Given the description of an element on the screen output the (x, y) to click on. 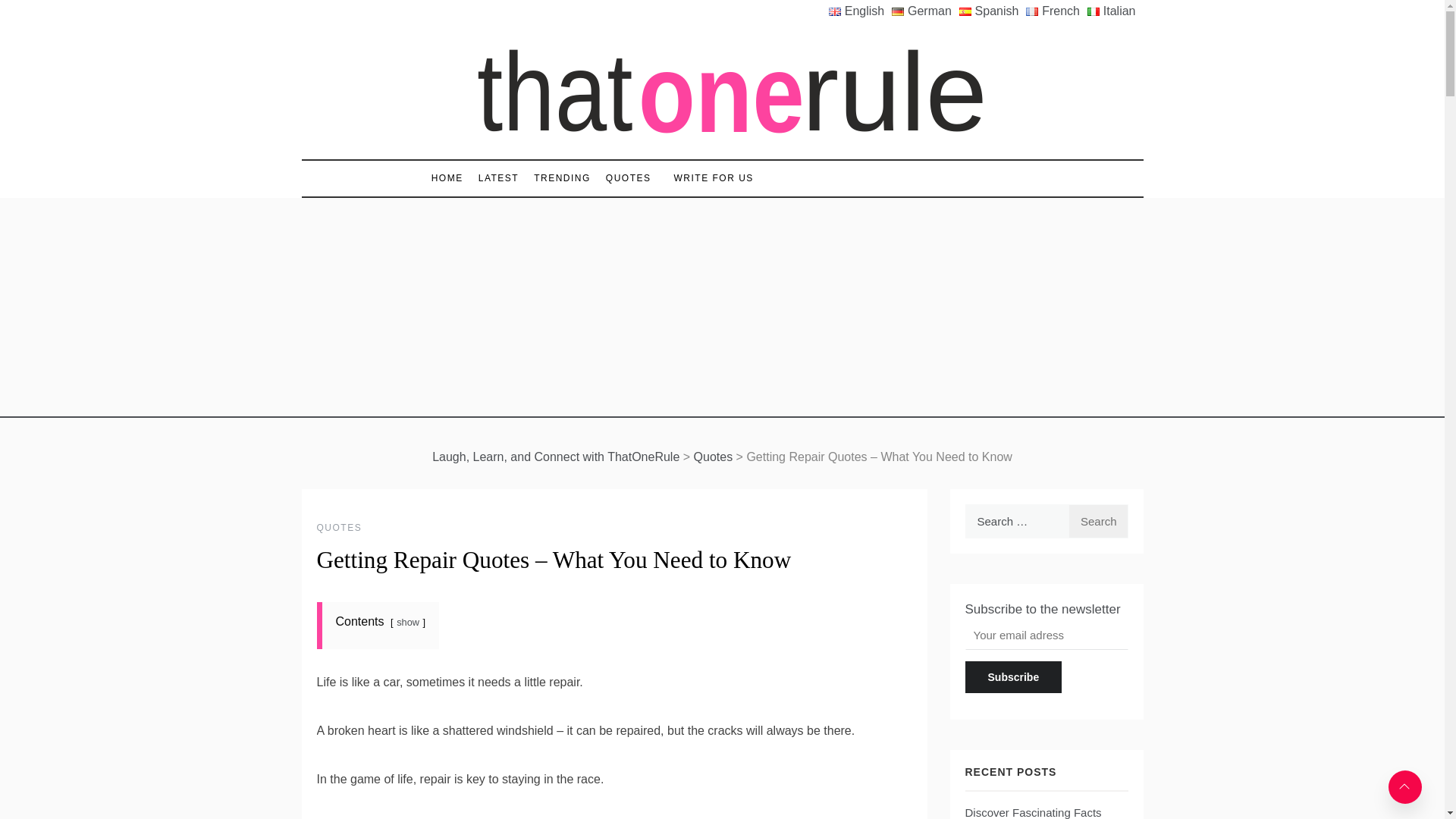
Discover Fascinating Facts about Florida (1031, 812)
LATEST (497, 178)
QUOTES (339, 527)
show (407, 622)
Search (1098, 521)
logo2 (722, 90)
Italian (1114, 11)
Search (1098, 521)
WRITE FOR US (706, 178)
QUOTES (628, 178)
